Given the description of an element on the screen output the (x, y) to click on. 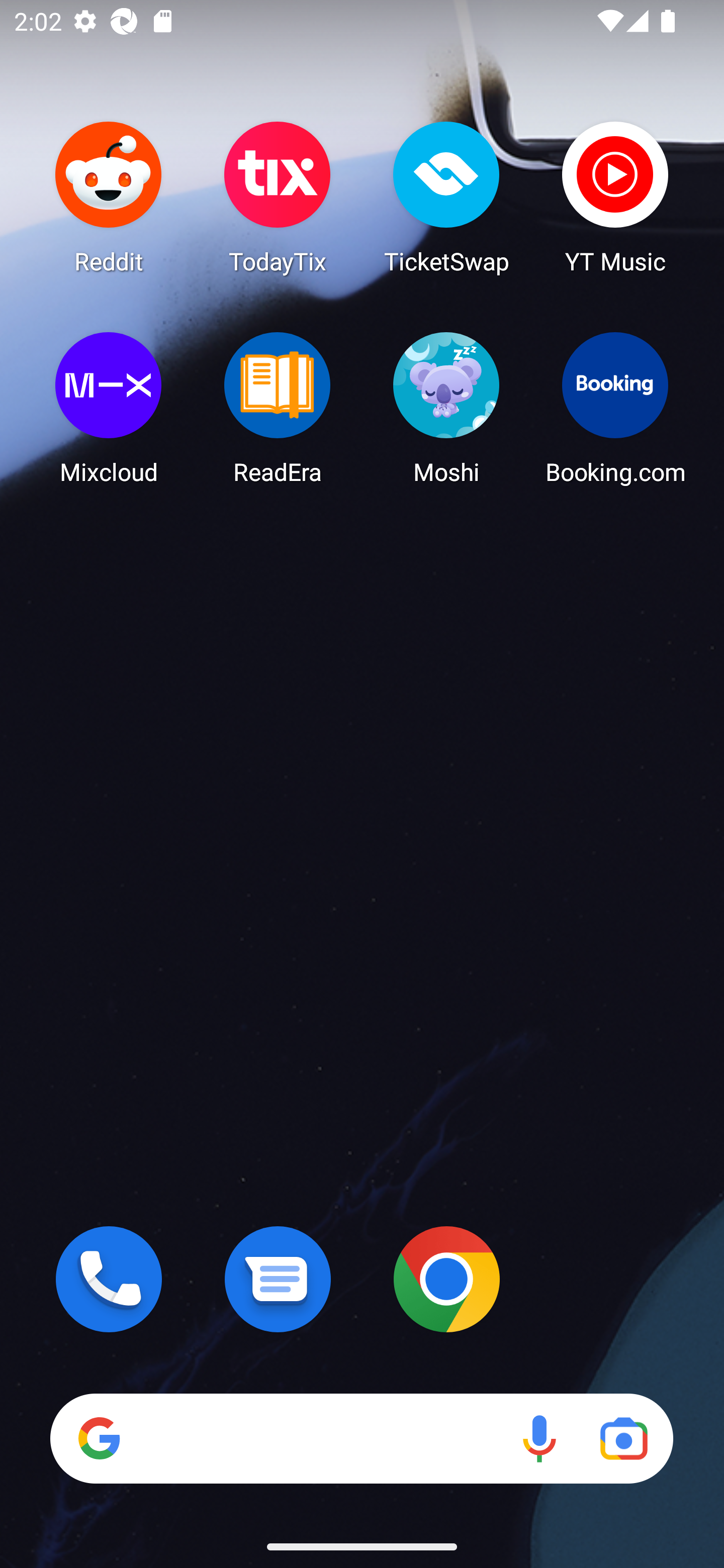
Reddit (108, 196)
TodayTix (277, 196)
TicketSwap (445, 196)
YT Music (615, 196)
Mixcloud (108, 407)
ReadEra (277, 407)
Moshi (445, 407)
Booking.com (615, 407)
Phone (108, 1279)
Messages (277, 1279)
Chrome (446, 1279)
Search Voice search Google Lens (361, 1438)
Voice search (539, 1438)
Google Lens (623, 1438)
